Given the description of an element on the screen output the (x, y) to click on. 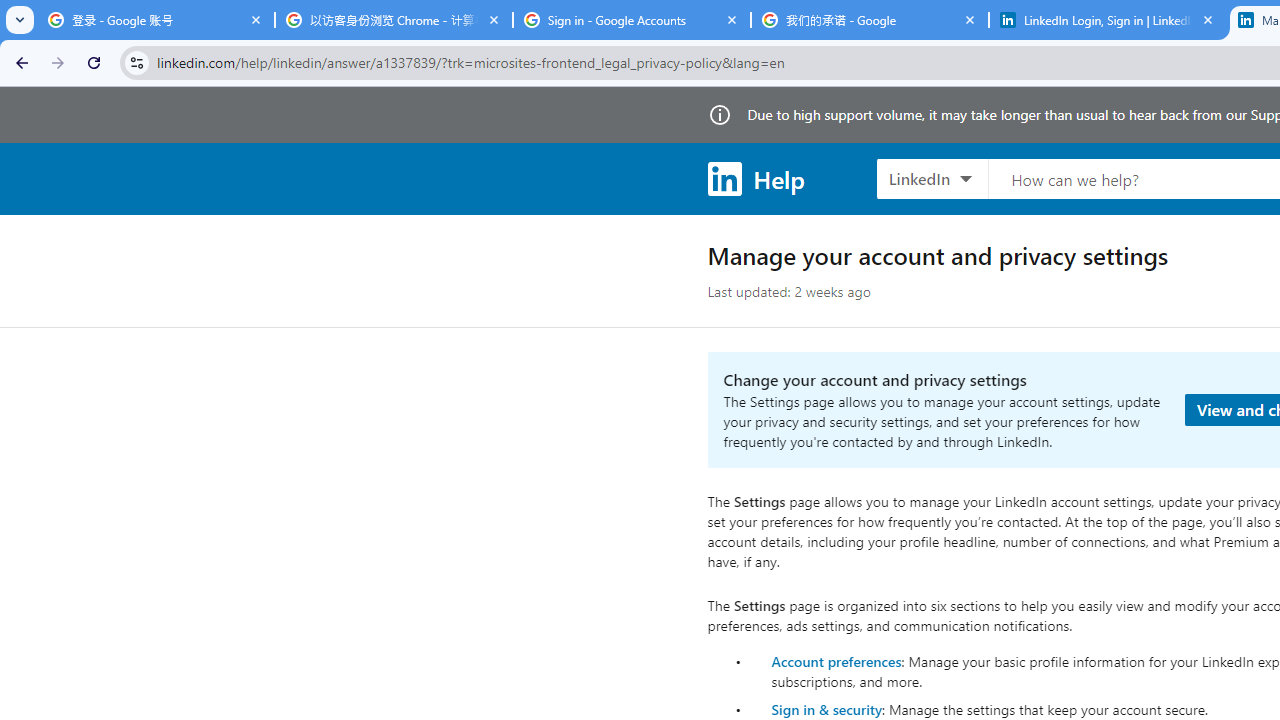
Sign in & security (826, 709)
Sign in - Google Accounts (632, 20)
Account preferences (836, 660)
LinkedIn products to search, LinkedIn selected (932, 178)
